Given the description of an element on the screen output the (x, y) to click on. 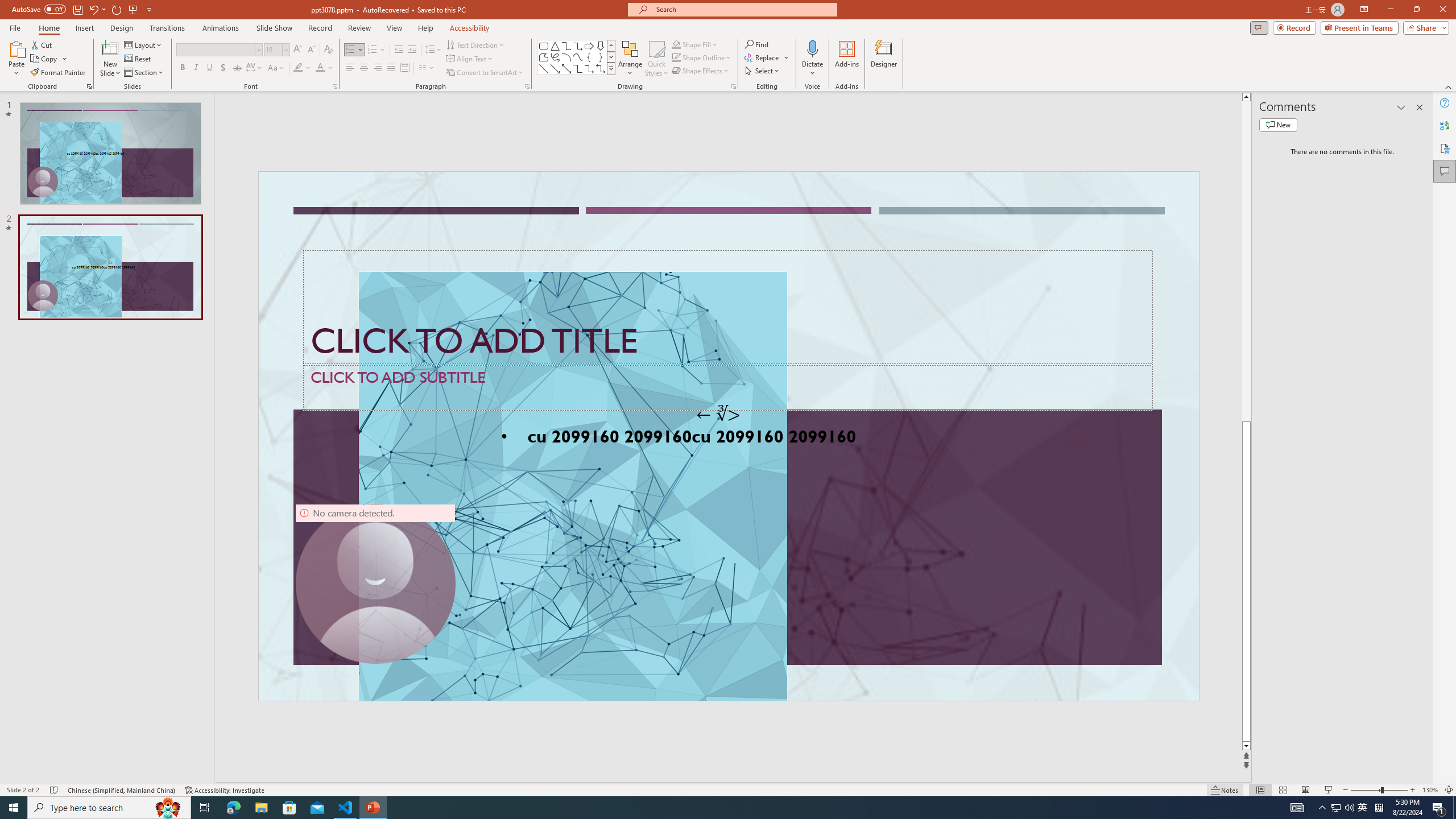
Shape Effects (700, 69)
